Given the description of an element on the screen output the (x, y) to click on. 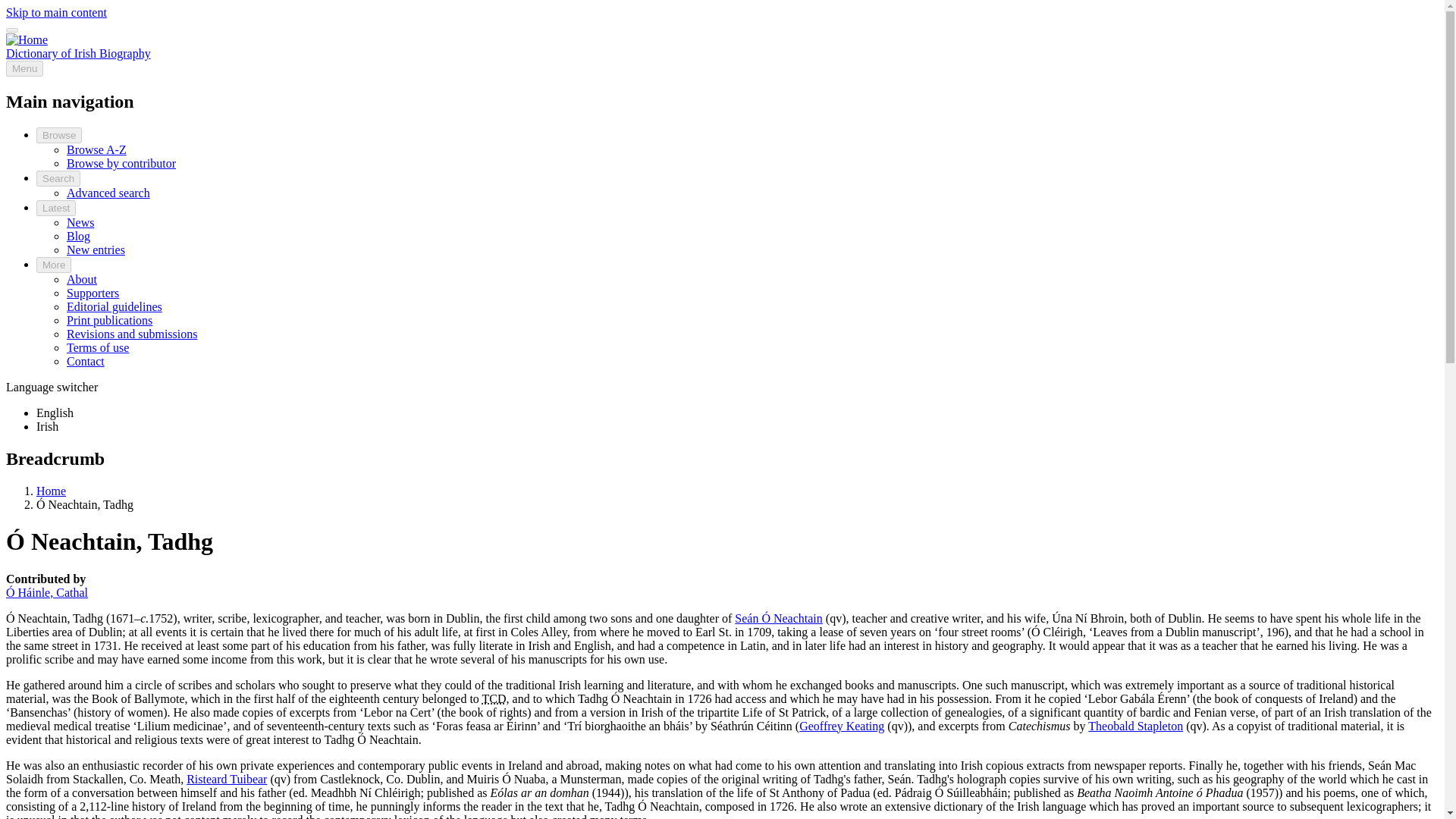
Information about the Dictionary of Irish Biography (81, 278)
Revisions and submissions (131, 333)
New entries (95, 249)
Blog (78, 236)
Browse biographies by contributor (121, 163)
Information about our print publications (109, 319)
Trinity College, Dublin (493, 697)
News feed (80, 222)
Menu (24, 68)
Skip to main content (55, 11)
Dictionary of Irish Biography (78, 52)
Terms of use (97, 347)
News (80, 222)
Browse biographies (58, 135)
Contact the Dictionary of Irish Biography (85, 360)
